Given the description of an element on the screen output the (x, y) to click on. 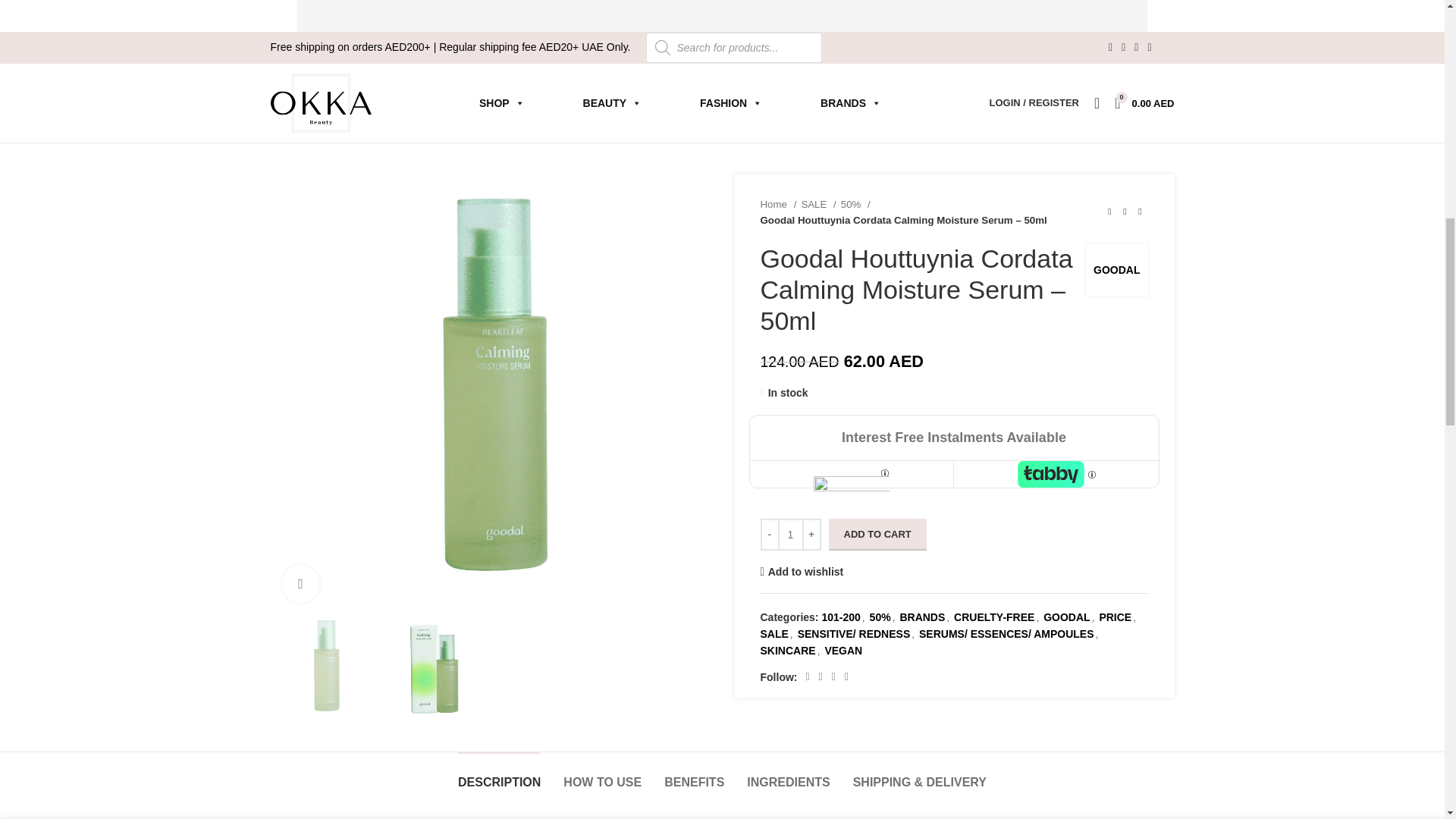
Shopping cart (1143, 102)
SHOP (501, 102)
My account (1033, 102)
BEAUTY (612, 102)
